Given the description of an element on the screen output the (x, y) to click on. 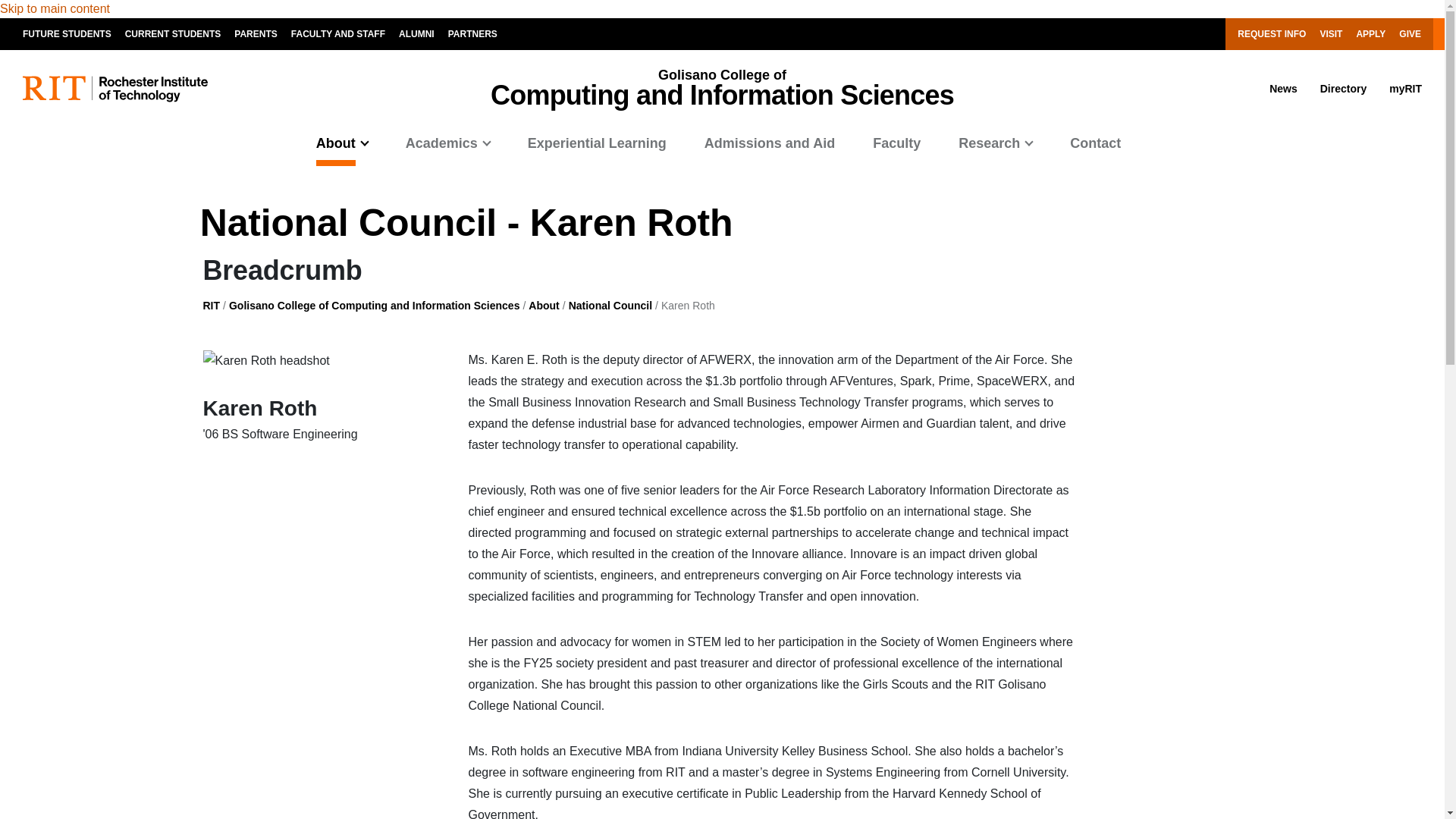
RIT logo and full name (115, 89)
Skip to main content (55, 8)
